Given the description of an element on the screen output the (x, y) to click on. 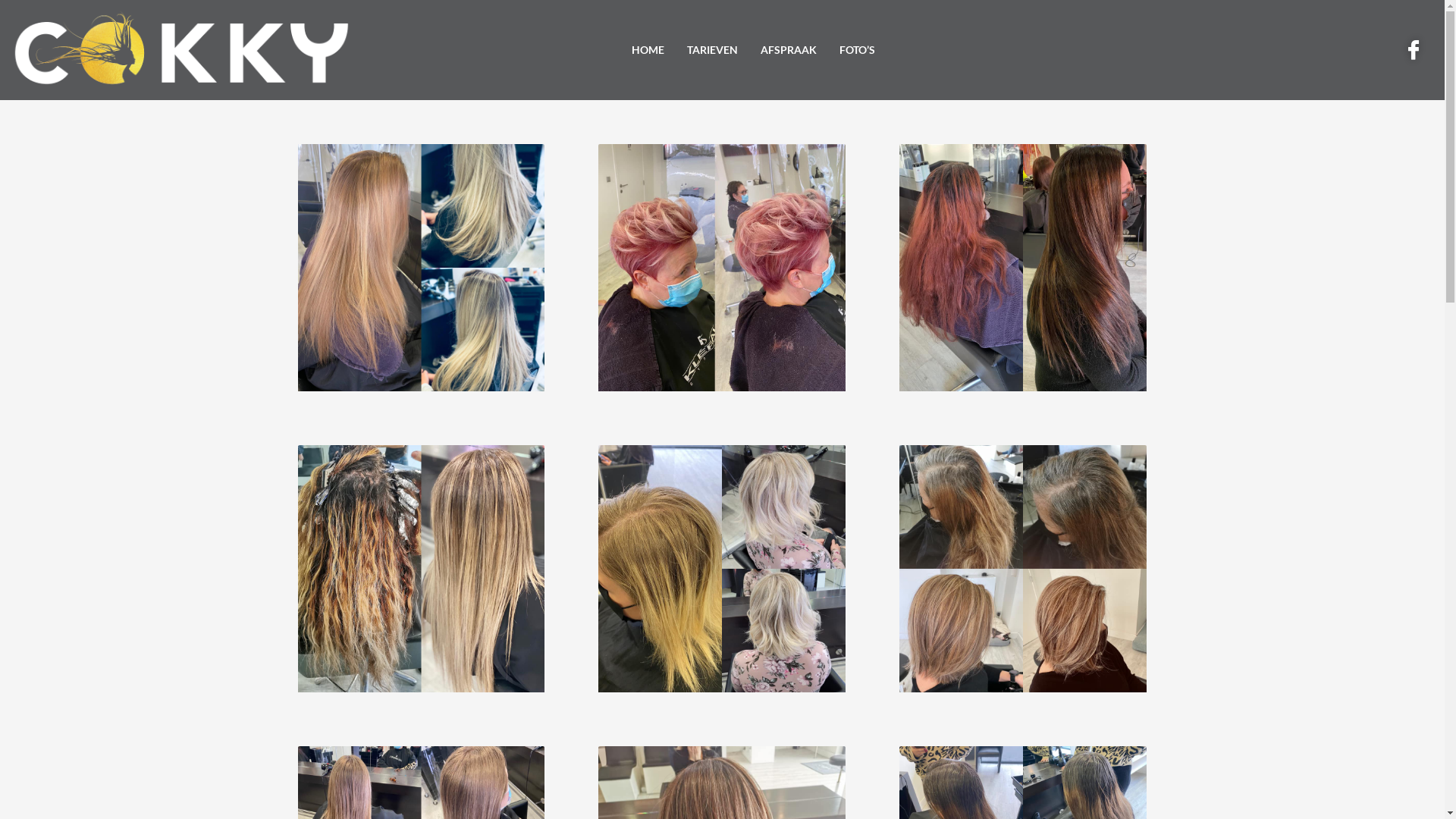
HOME Element type: text (647, 50)
AFSPRAAK Element type: text (788, 50)
TARIEVEN Element type: text (712, 50)
